Given the description of an element on the screen output the (x, y) to click on. 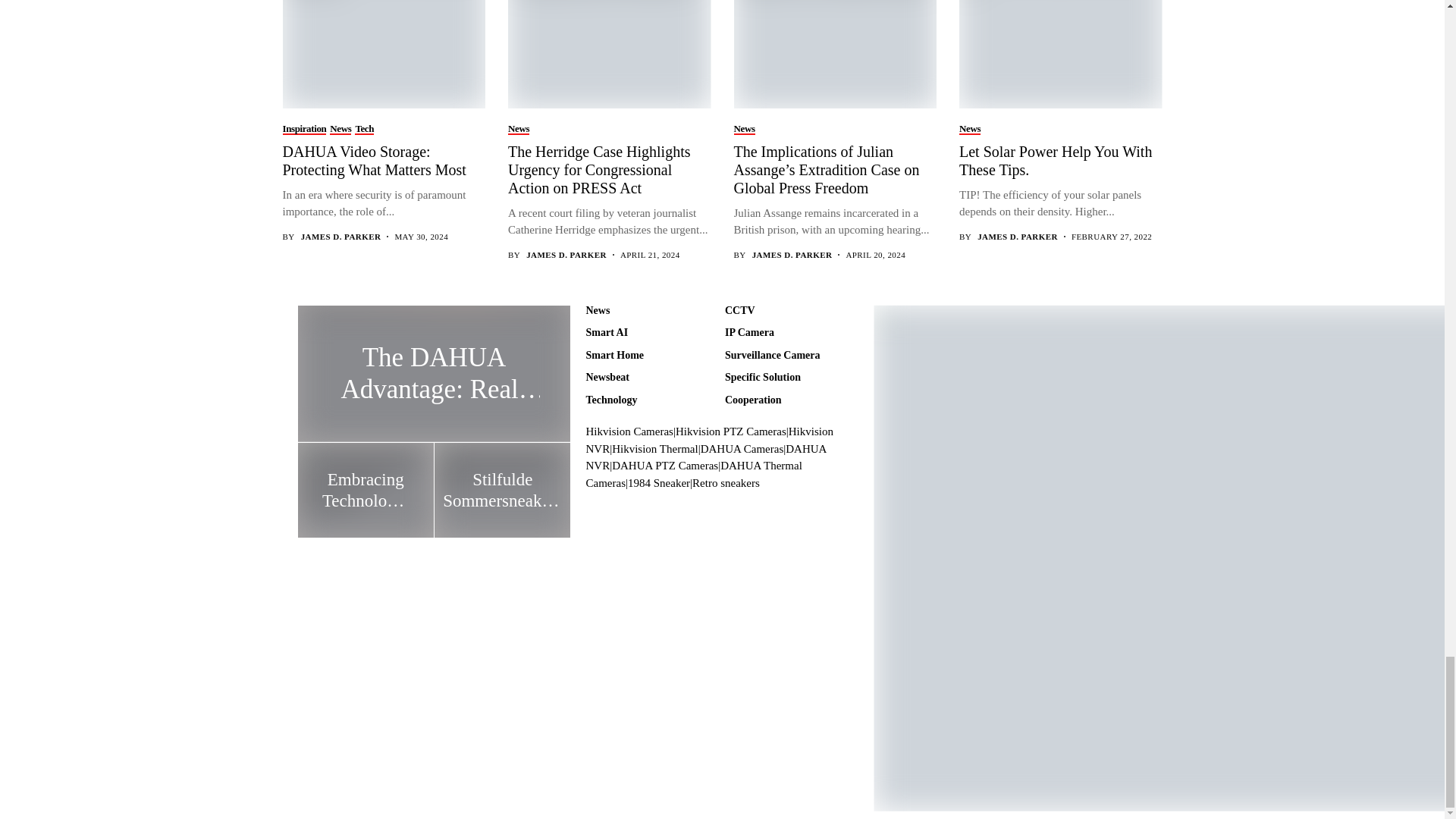
DAHUA Video Storage: Protecting What Matters Most (382, 53)
Posts by James D. Parker (341, 236)
